Given the description of an element on the screen output the (x, y) to click on. 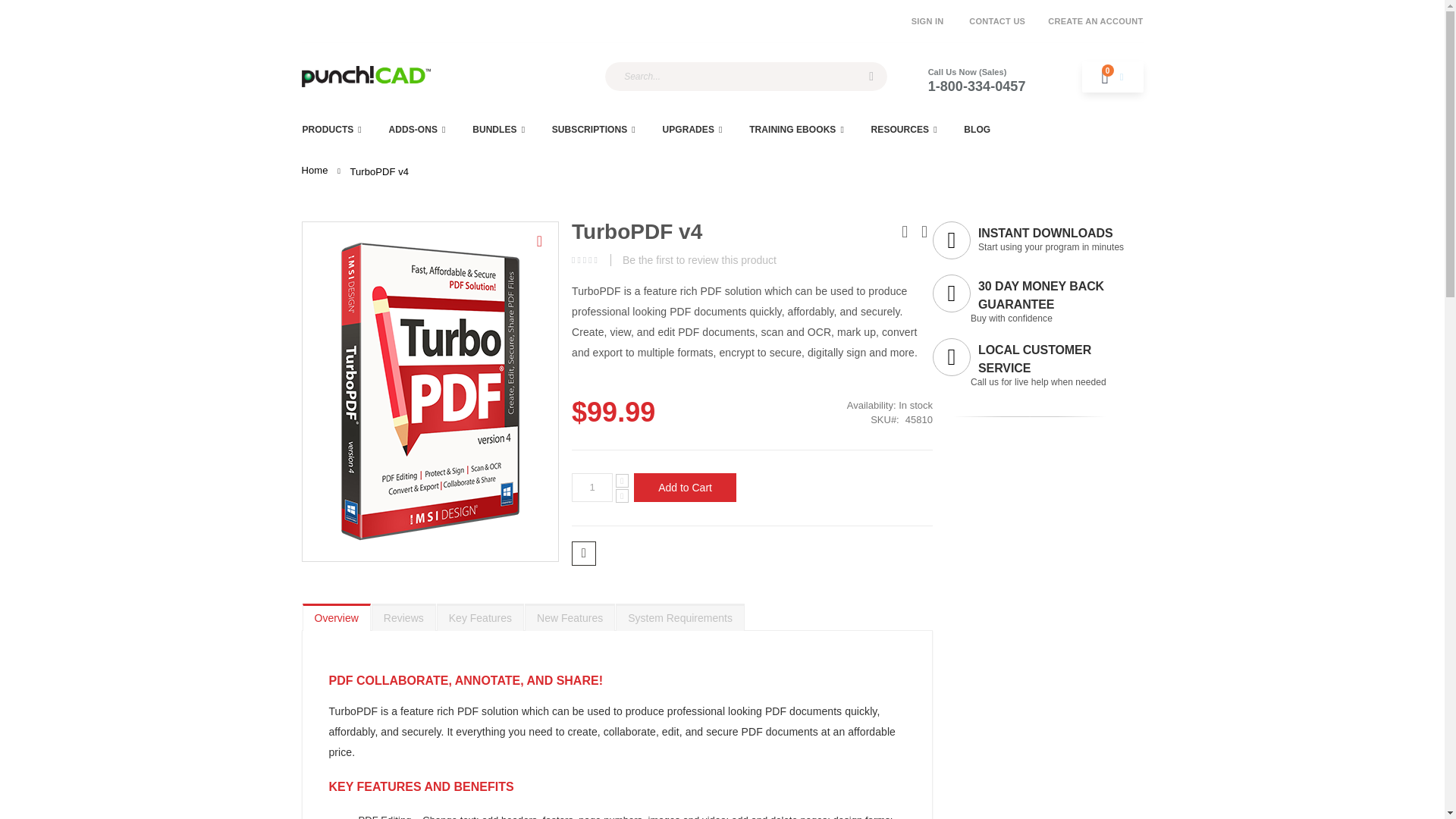
PRODUCTS (330, 129)
Search (870, 76)
Go to Home Page (315, 170)
ADDS-ONS (416, 129)
SUBSCRIPTIONS (594, 129)
Availability (846, 405)
CREATE AN ACCOUNT (1089, 21)
1 (592, 487)
Add to Cart (684, 487)
SIGN IN (927, 21)
